Given the description of an element on the screen output the (x, y) to click on. 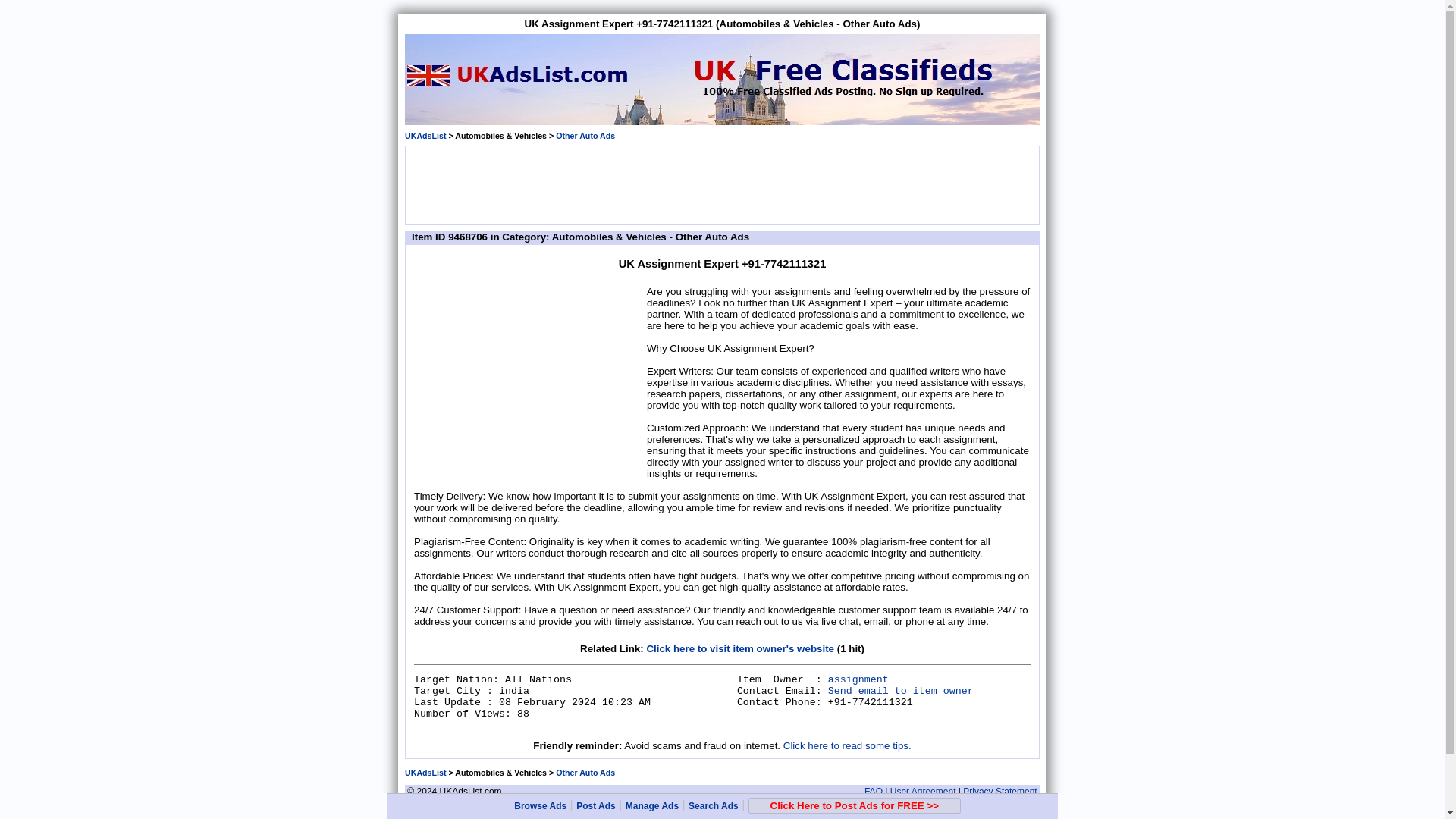
Advertisement (527, 379)
GetJob.us (566, 809)
Browse all items posted by this owner (858, 679)
Privacy Statement (999, 791)
UKAdsList (424, 135)
USNetAds.com (519, 809)
Post Ads (595, 805)
Advertisement (721, 183)
Go Back to UKAdsList.com Home Page (424, 772)
assignment (858, 679)
User Agreement (922, 791)
Go Back to UKAdsList.com Home Page (424, 135)
Send email to item owner (901, 690)
CNNetAds.com (770, 809)
Search Ads (713, 805)
